Given the description of an element on the screen output the (x, y) to click on. 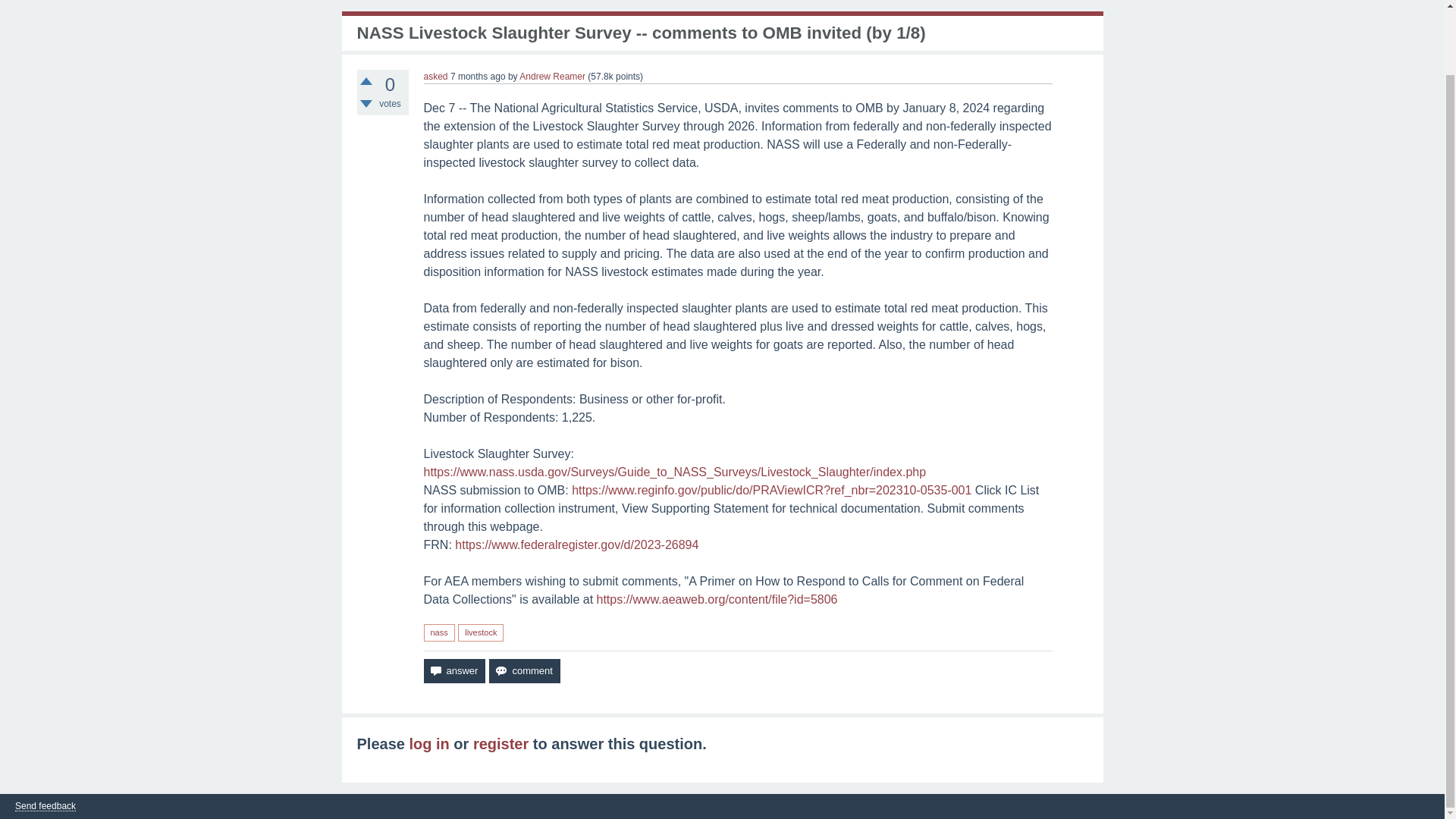
Send feedback (44, 806)
Andrew Reamer (552, 76)
Add a comment on this question (524, 671)
Click to vote down (365, 103)
livestock (480, 632)
answer (453, 671)
nass (438, 632)
answer (453, 671)
log in (428, 743)
Answer this question (453, 671)
comment (524, 671)
comment (524, 671)
register (500, 743)
Click to vote up (365, 80)
asked (434, 76)
